Given the description of an element on the screen output the (x, y) to click on. 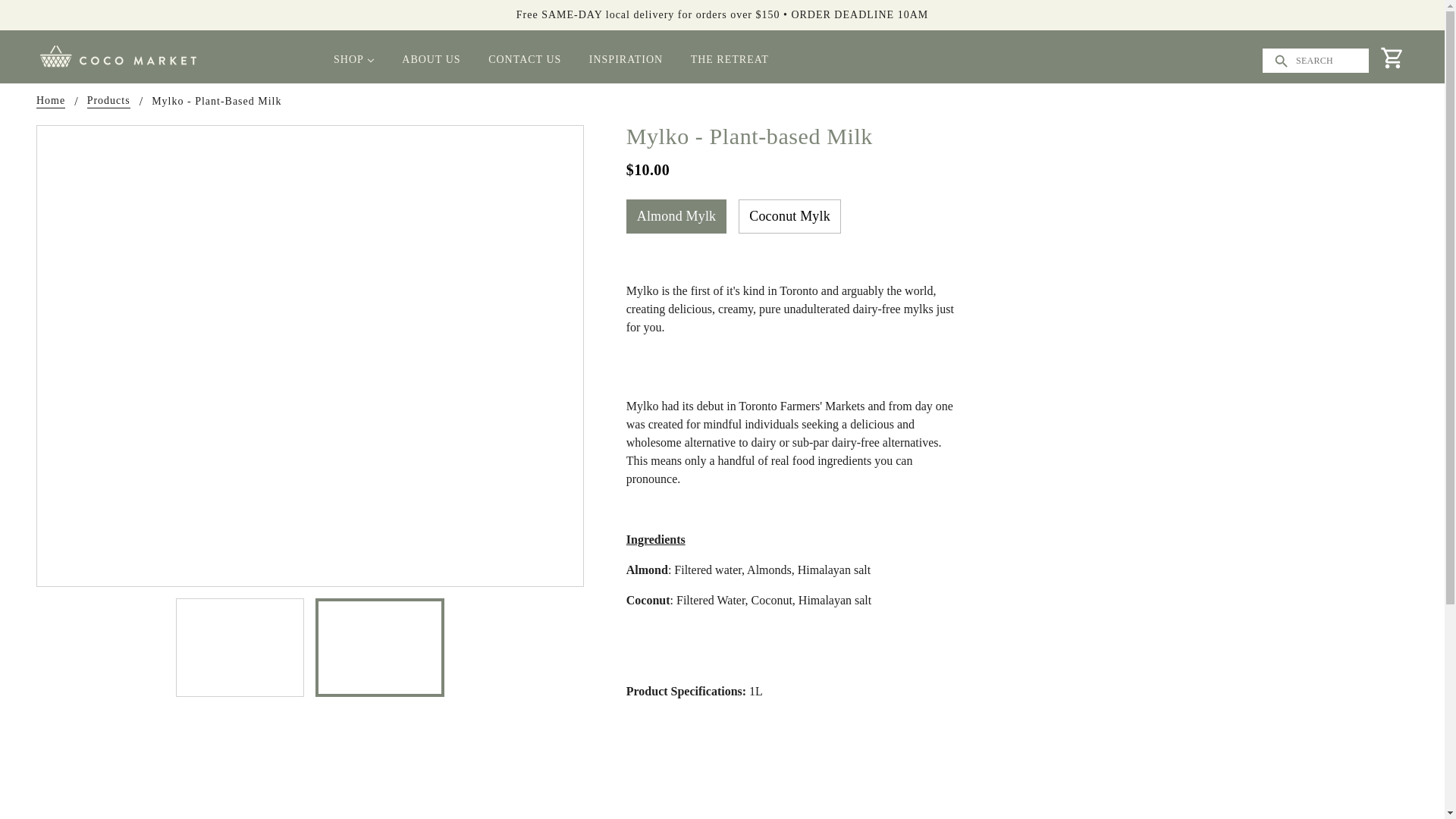
Coco Market (118, 55)
